Given the description of an element on the screen output the (x, y) to click on. 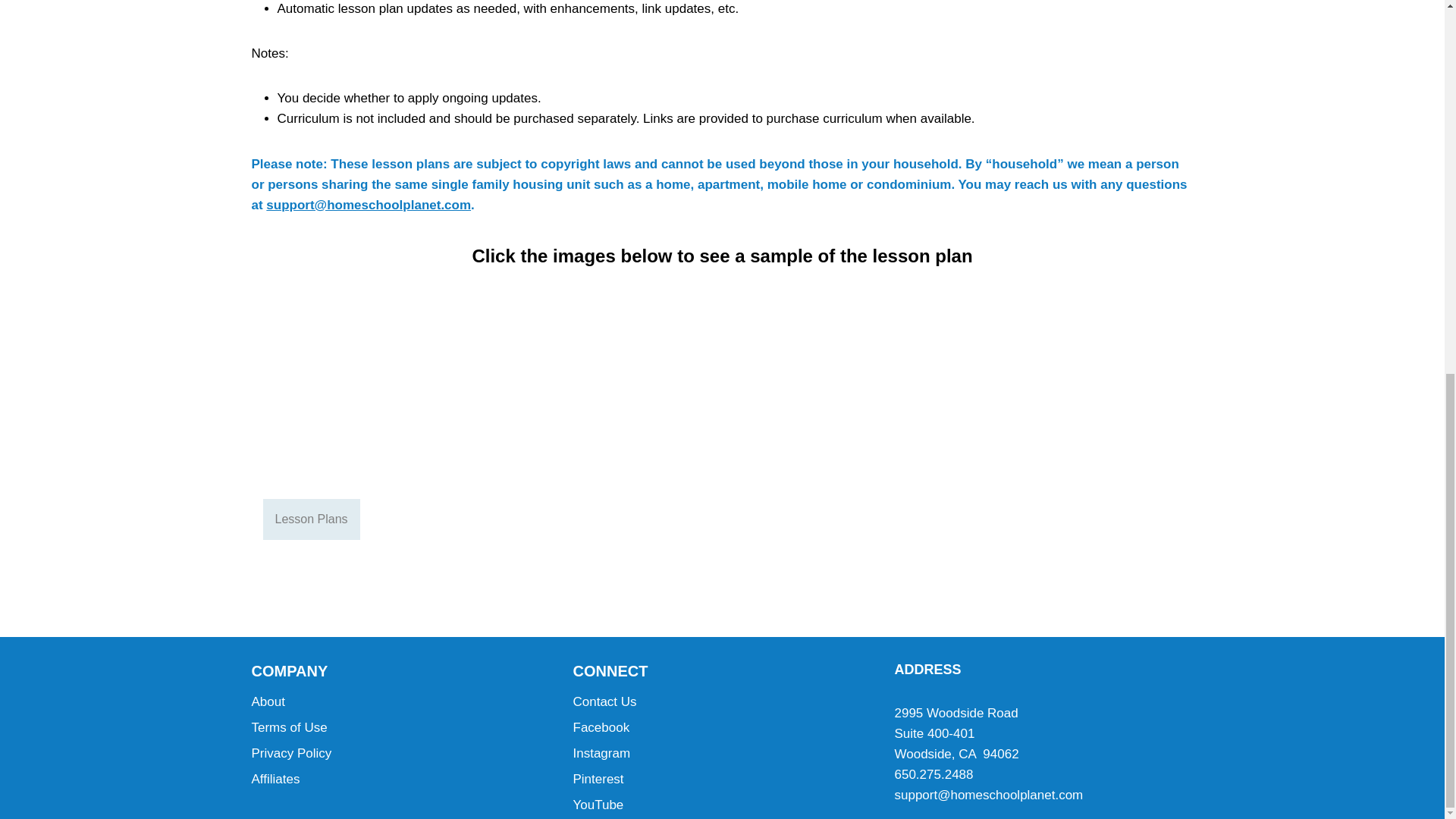
Affiliates (400, 780)
Pinterest (722, 780)
Jensens-Vocabulary-Daily-Digest (854, 405)
About (400, 702)
Privacy Policy (400, 754)
Contact Us (722, 702)
Facebook (722, 728)
Jensens-Vocabulary-Weekly-View (365, 405)
Terms of Use (400, 728)
Instagram (722, 754)
Lesson Plans (310, 518)
